Given the description of an element on the screen output the (x, y) to click on. 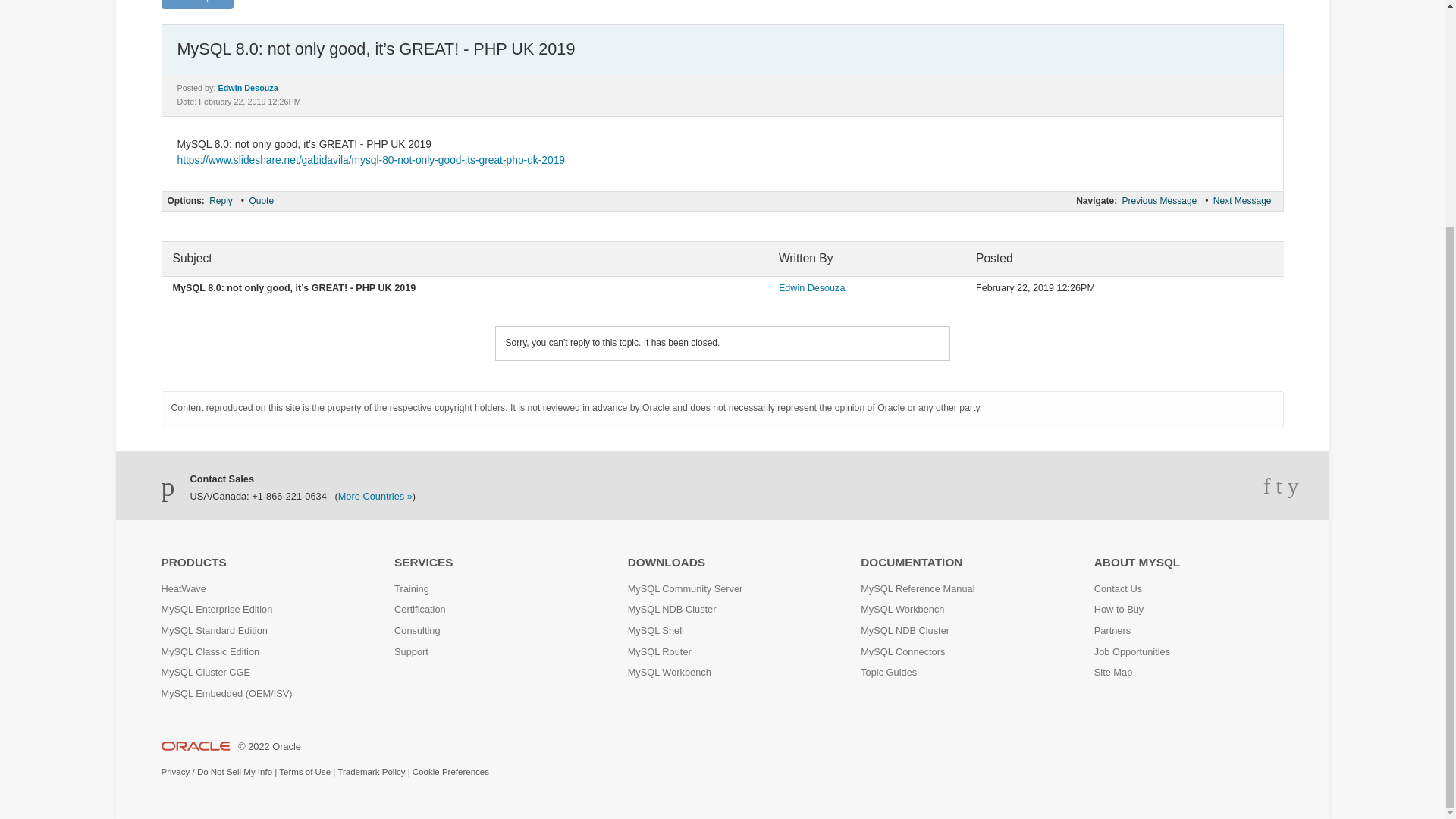
Reply (220, 200)
Edwin Desouza (811, 287)
New Topic (196, 4)
Quote (261, 200)
Next Message (1242, 200)
Edwin Desouza (248, 87)
Previous Message (1159, 200)
